Given the description of an element on the screen output the (x, y) to click on. 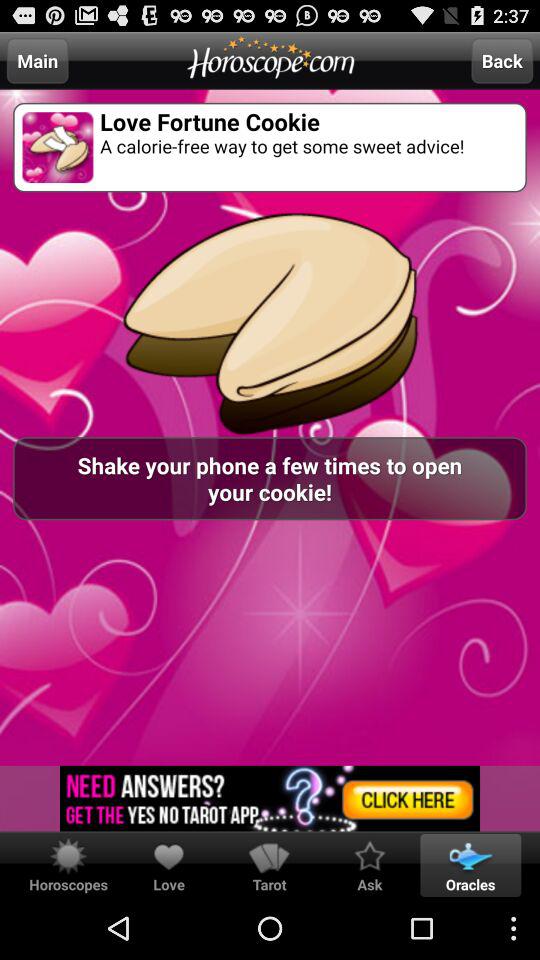
more information about an advertisement (270, 798)
